Given the description of an element on the screen output the (x, y) to click on. 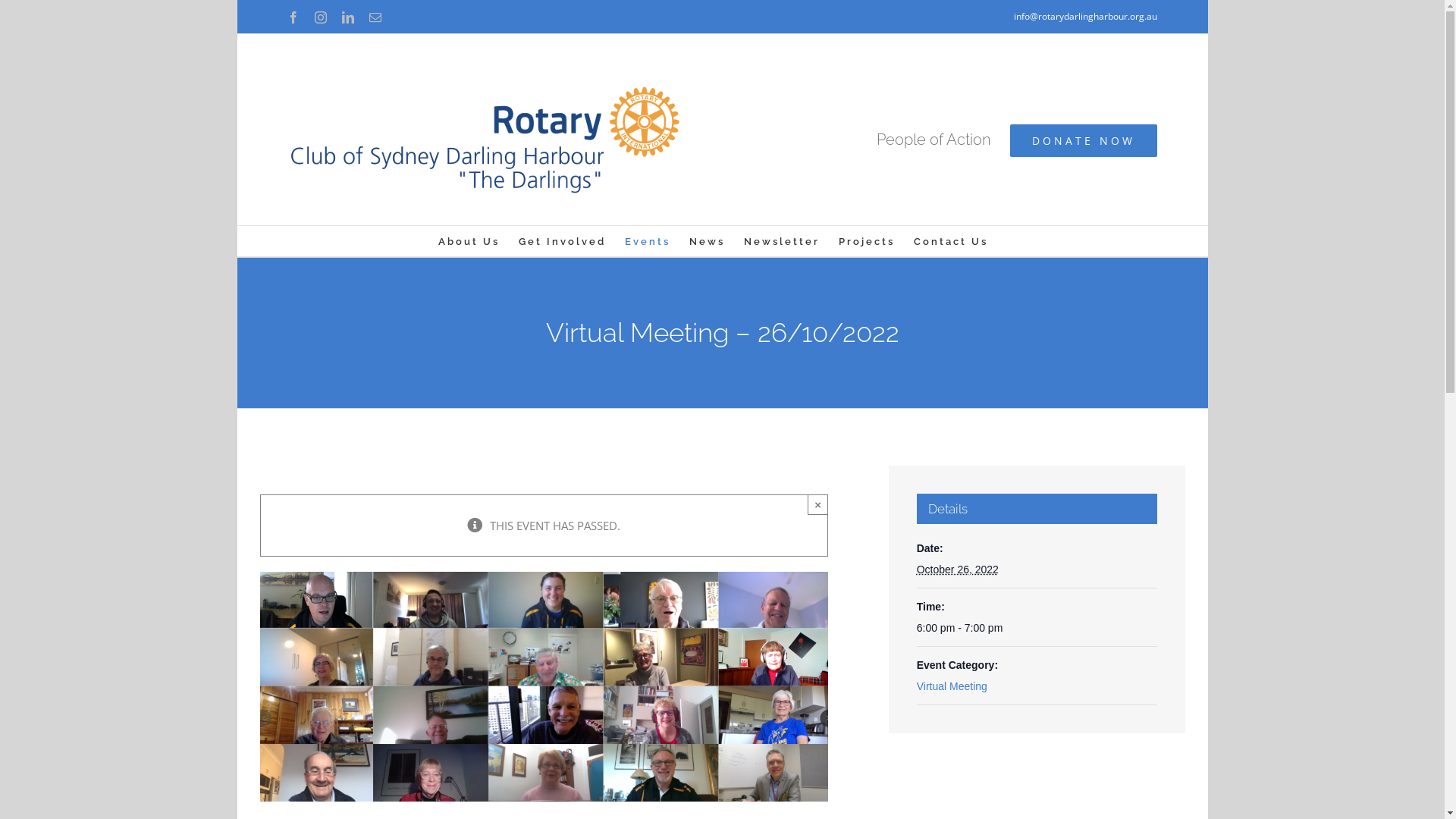
Instagram Element type: text (320, 17)
Email Element type: text (375, 17)
Virtual Meeting Element type: text (951, 686)
Get Involved Element type: text (561, 240)
News Element type: text (706, 240)
Newsletter Element type: text (781, 240)
Facebook Element type: text (293, 17)
About Us Element type: text (468, 240)
Projects Element type: text (866, 240)
info@rotarydarlingharbour.org.au Element type: text (1085, 15)
DONATE NOW Element type: text (1083, 140)
LinkedIn Element type: text (348, 17)
Contact Us Element type: text (950, 240)
Events Element type: text (647, 240)
